Given the description of an element on the screen output the (x, y) to click on. 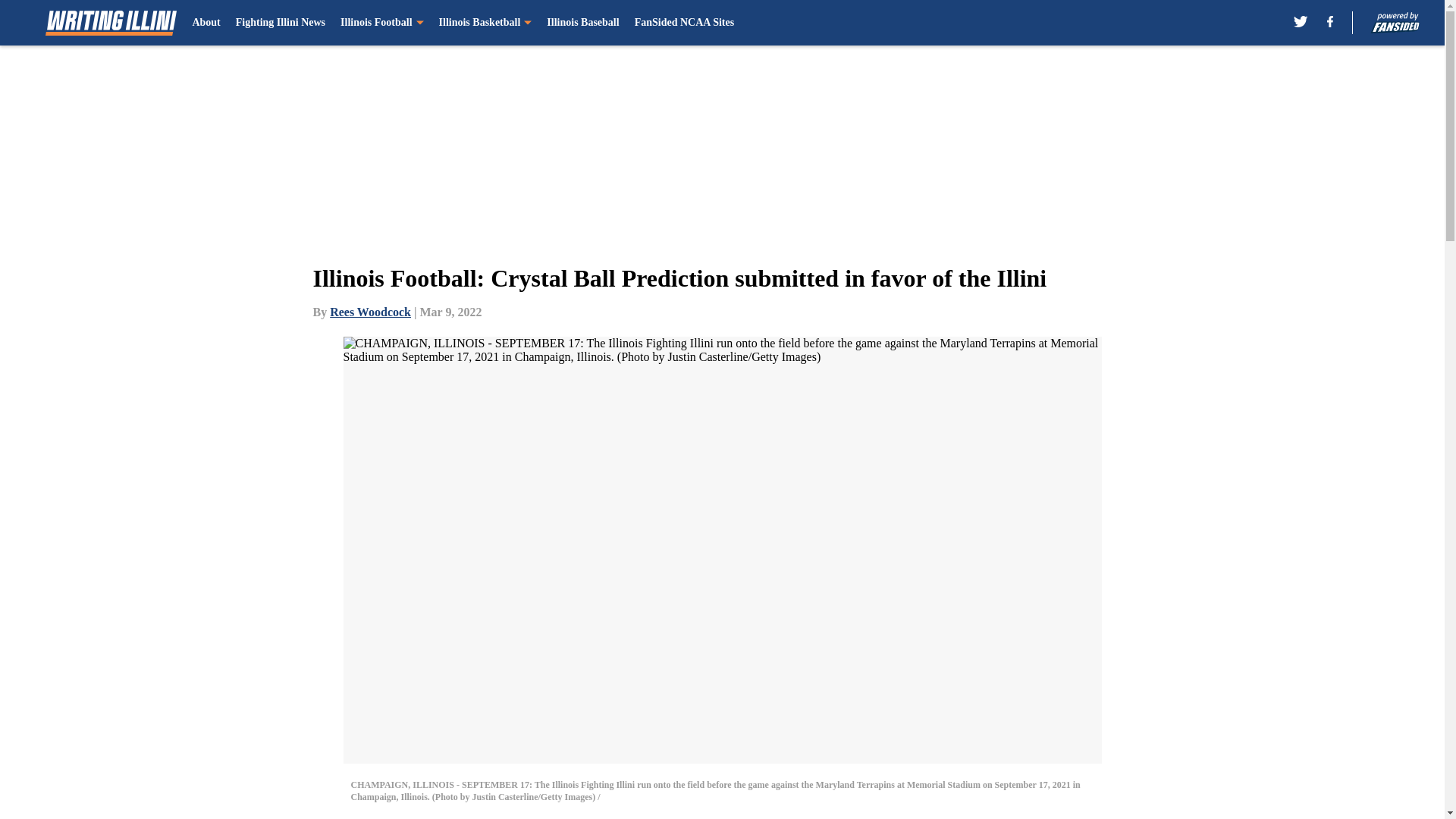
Fighting Illini News (279, 22)
FanSided NCAA Sites (683, 22)
Rees Woodcock (370, 311)
Illinois Baseball (582, 22)
About (205, 22)
